Given the description of an element on the screen output the (x, y) to click on. 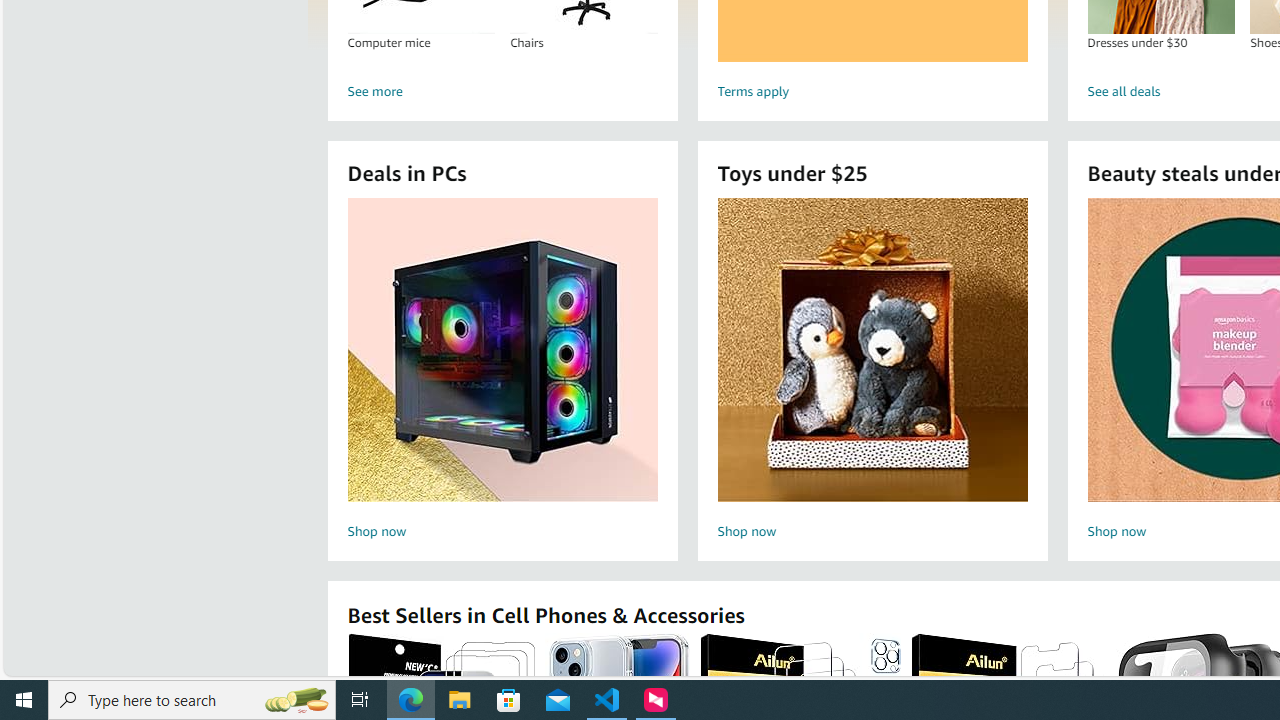
Deals in PCs Shop now (502, 371)
Deals in PCs (502, 349)
Toys under $25 Shop now (872, 371)
Toys under $25 (872, 349)
